Given the description of an element on the screen output the (x, y) to click on. 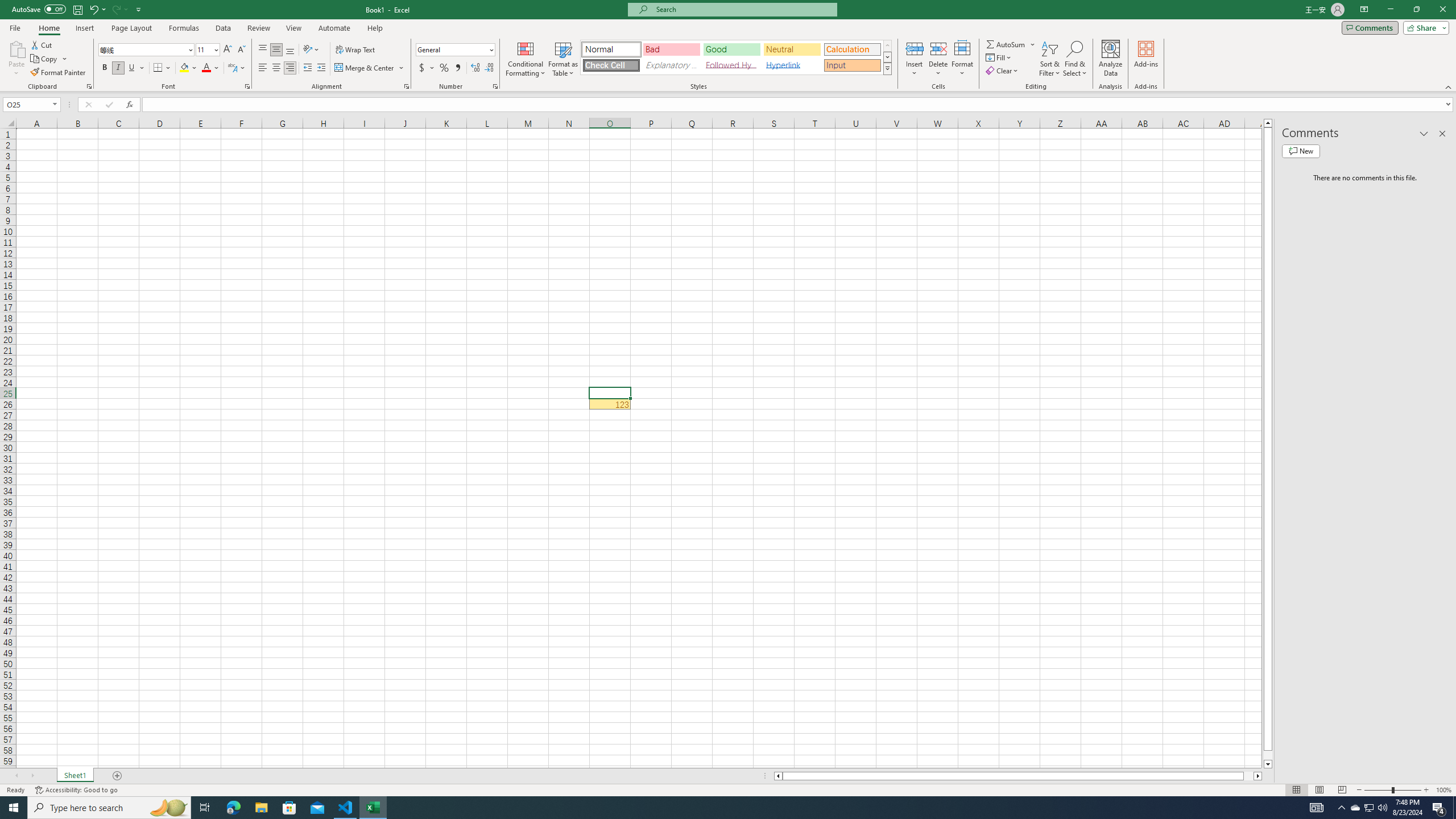
Center (276, 67)
Top Align (262, 49)
Format Painter (58, 72)
Increase Indent (320, 67)
Accessibility Checker Accessibility: Good to go (76, 790)
Input (852, 65)
Format Cell Font (247, 85)
Class: NetUIImage (887, 68)
Format (962, 58)
Decrease Decimal (489, 67)
Collapse the Ribbon (1448, 86)
Row Down (887, 56)
